Given the description of an element on the screen output the (x, y) to click on. 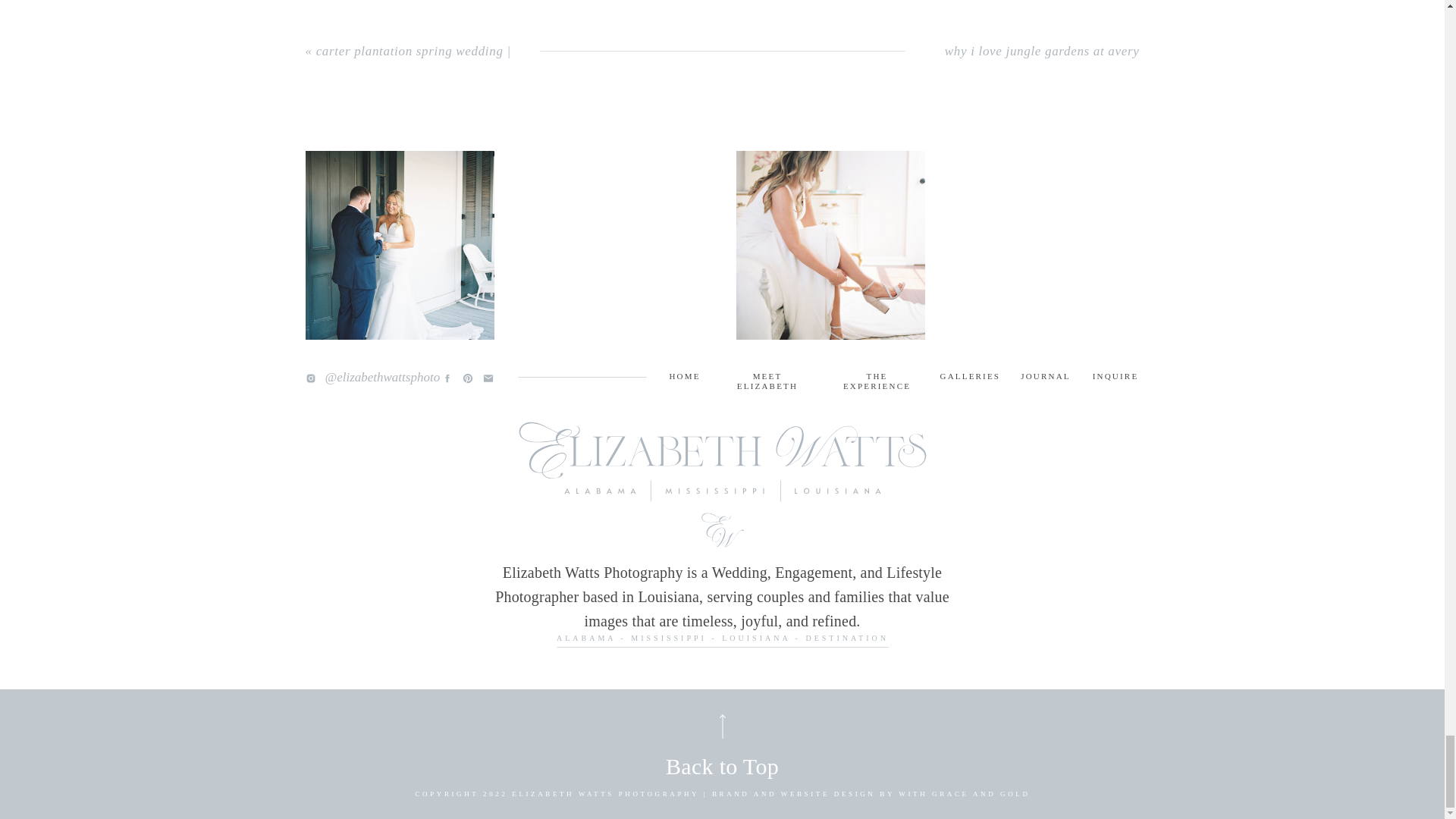
Back to Top (721, 765)
THE EXPERIENCE (876, 377)
GALLERIES (970, 377)
MEET ELIZABETH (767, 377)
why i love jungle gardens at avery island (1042, 62)
HOME (684, 377)
JOURNAL (1046, 377)
INQUIRE (1115, 377)
BRAND AND WEBSITE DESIGN BY WITH GRACE AND GOLD (870, 793)
